Given the description of an element on the screen output the (x, y) to click on. 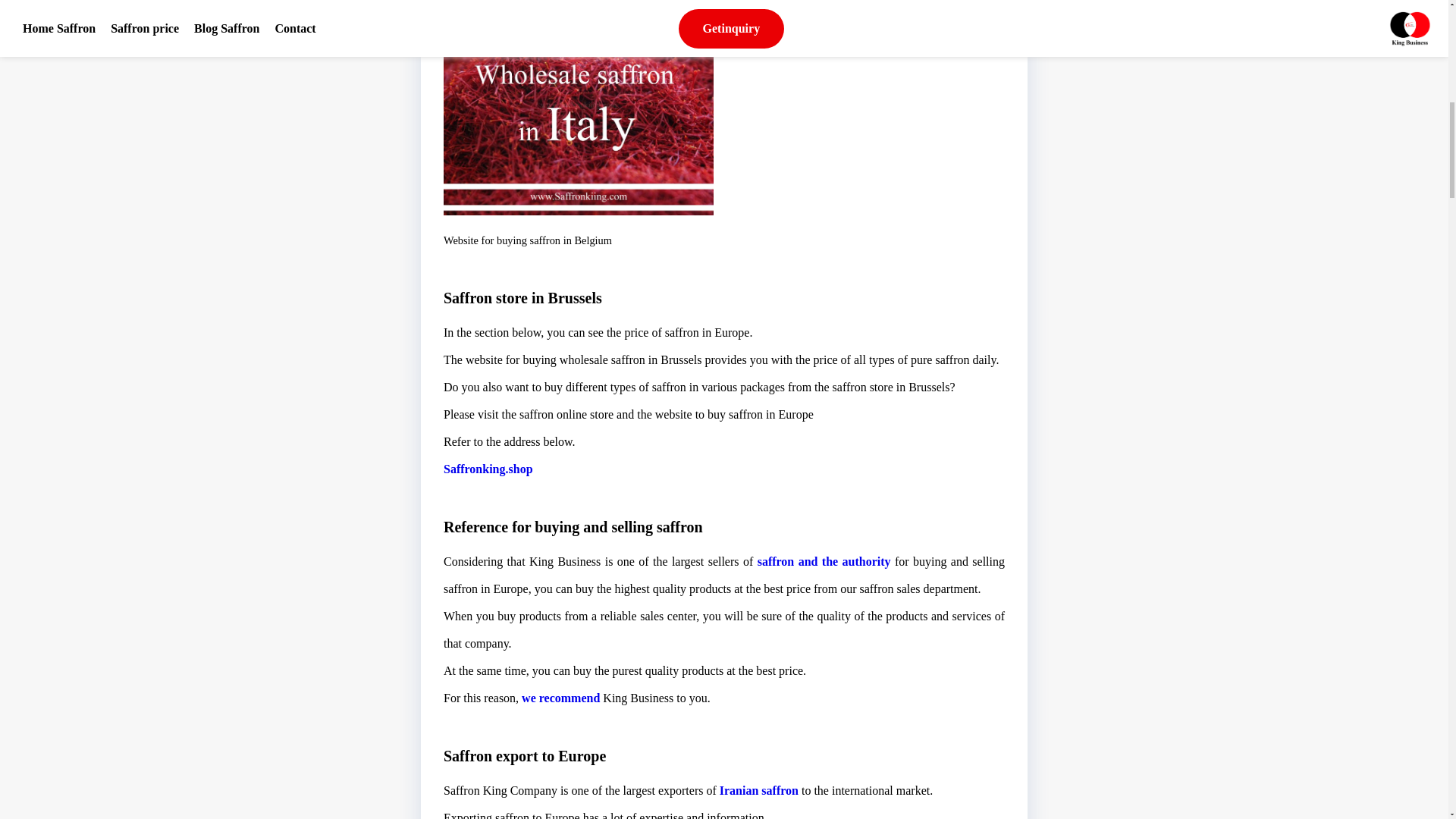
saffron and the authority (824, 561)
Iranian saffron (758, 789)
we recommend (560, 697)
Saffronking.shop (488, 468)
